Given the description of an element on the screen output the (x, y) to click on. 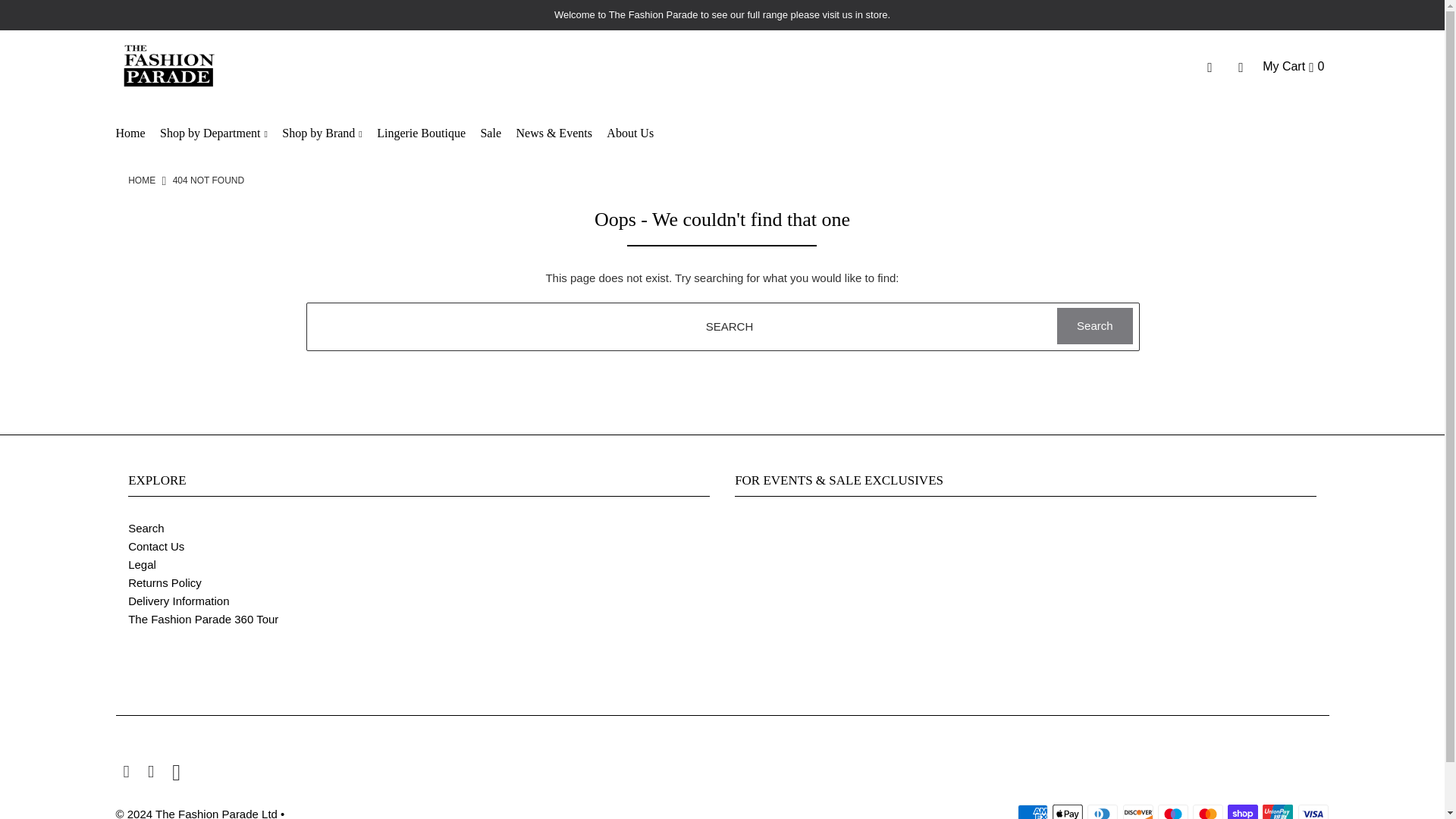
Mastercard (1207, 811)
American Express (1032, 811)
Search (1094, 325)
Visa (1312, 811)
Apple Pay (1067, 811)
Diners Club (1102, 811)
Shop Pay (1242, 811)
Home (141, 180)
Discover (1137, 811)
Maestro (1172, 811)
